Given the description of an element on the screen output the (x, y) to click on. 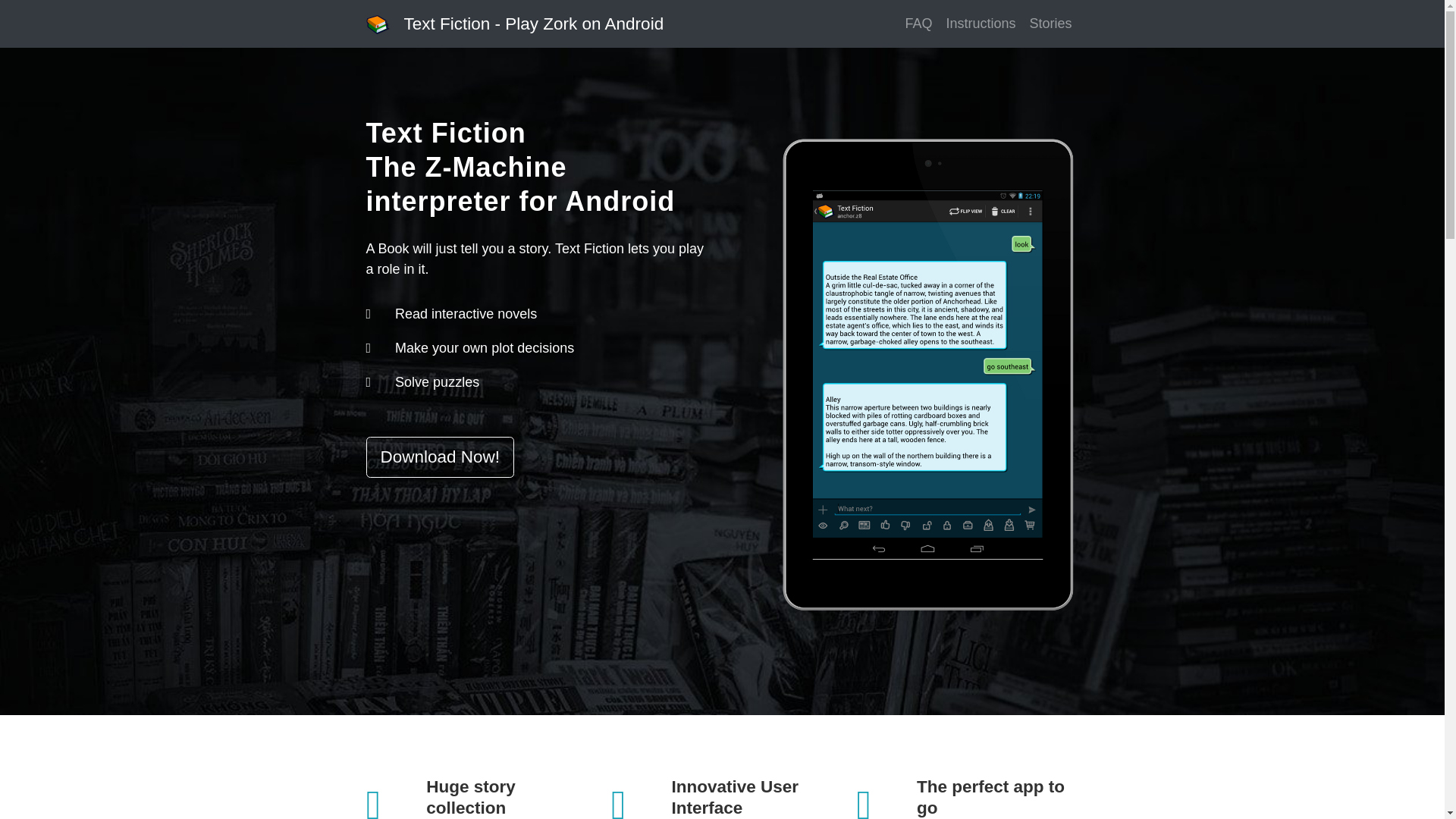
Instructions (980, 23)
Frequently Asked Questions (918, 23)
FAQ (918, 23)
Stories (1050, 23)
Main page (533, 23)
How to use the app (980, 23)
Download Now! (439, 456)
Story Catalog (1050, 23)
